Given the description of an element on the screen output the (x, y) to click on. 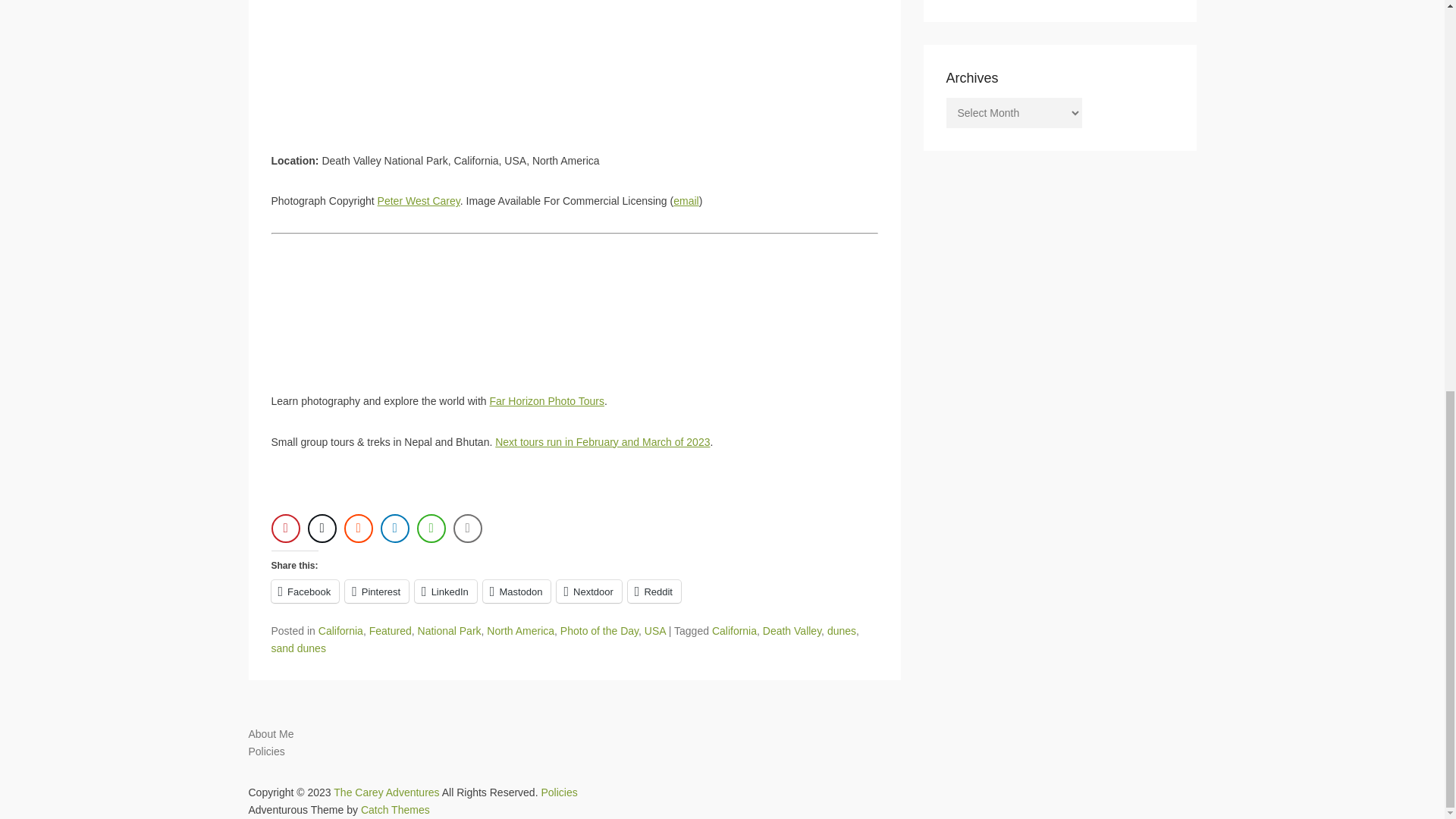
email (685, 200)
Click to share on LinkedIn (445, 590)
Far Horizon Photo Tours (546, 400)
Catch Themes (395, 809)
Pinterest (377, 590)
The Carey Adventures (386, 791)
Click to share on Pinterest (377, 590)
Mastodon (517, 590)
Click to share on Reddit (654, 590)
Next tours run in February and March of 2023 (602, 441)
